Given the description of an element on the screen output the (x, y) to click on. 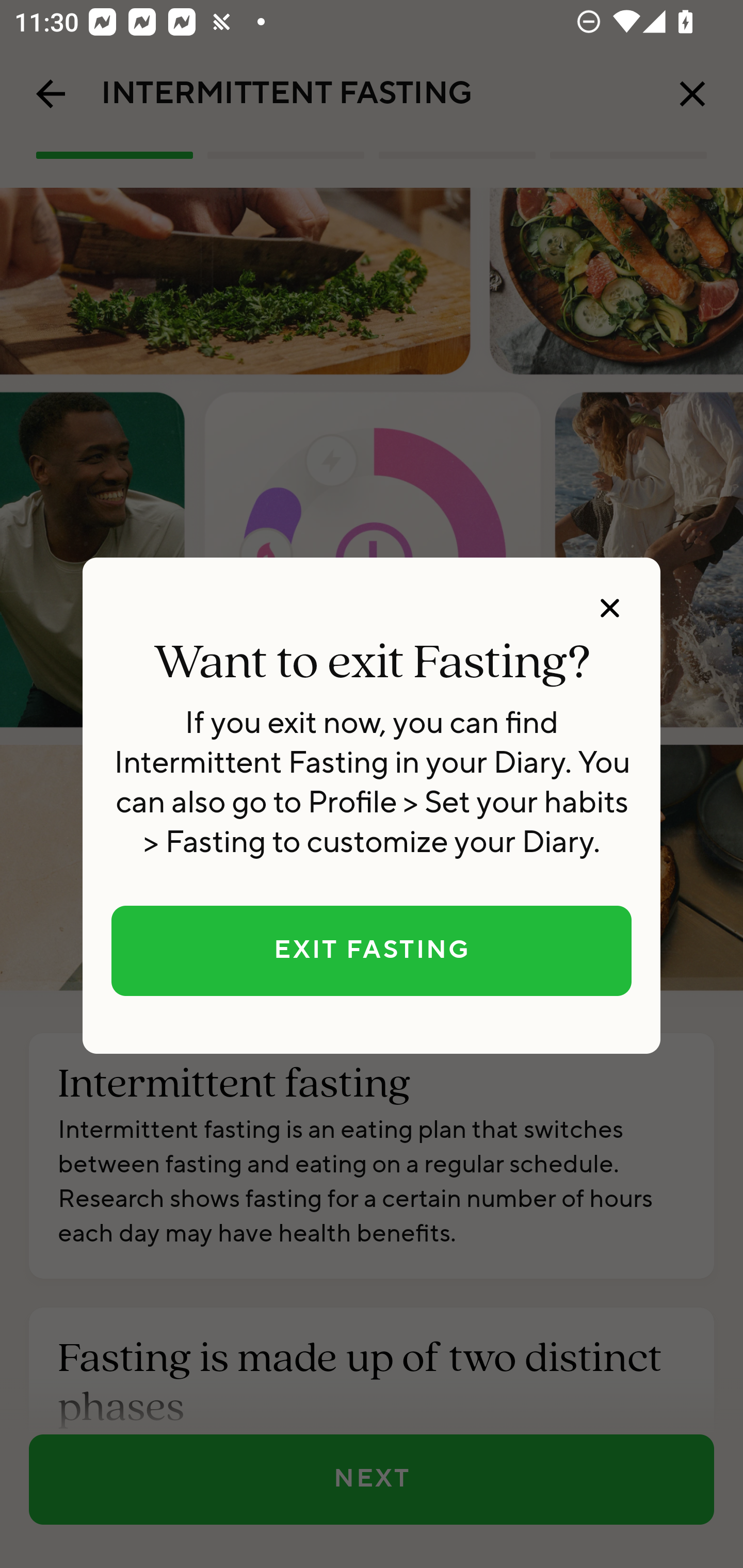
Dismiss (609, 607)
EXIT FASTING (371, 950)
